Given the description of an element on the screen output the (x, y) to click on. 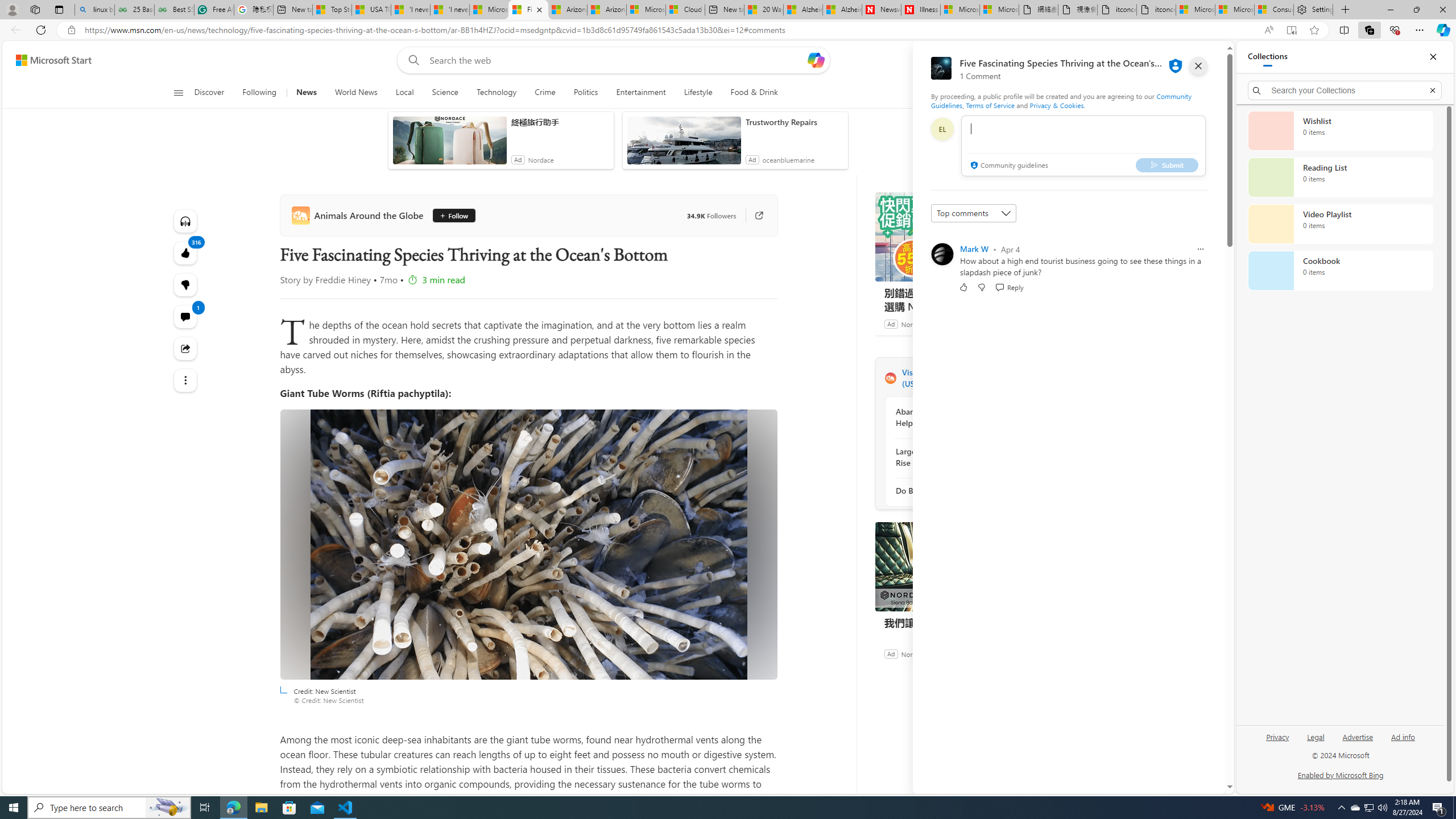
Community guidelines (1008, 165)
To get missing image descriptions, open the context menu. (995, 92)
Cookbook collection, 0 items (1339, 270)
Share this story (184, 348)
Privacy (1278, 736)
Wishlist collection, 0 items (1339, 130)
Mark W (973, 248)
Consumer Health Data Privacy Policy (1273, 9)
